Given the description of an element on the screen output the (x, y) to click on. 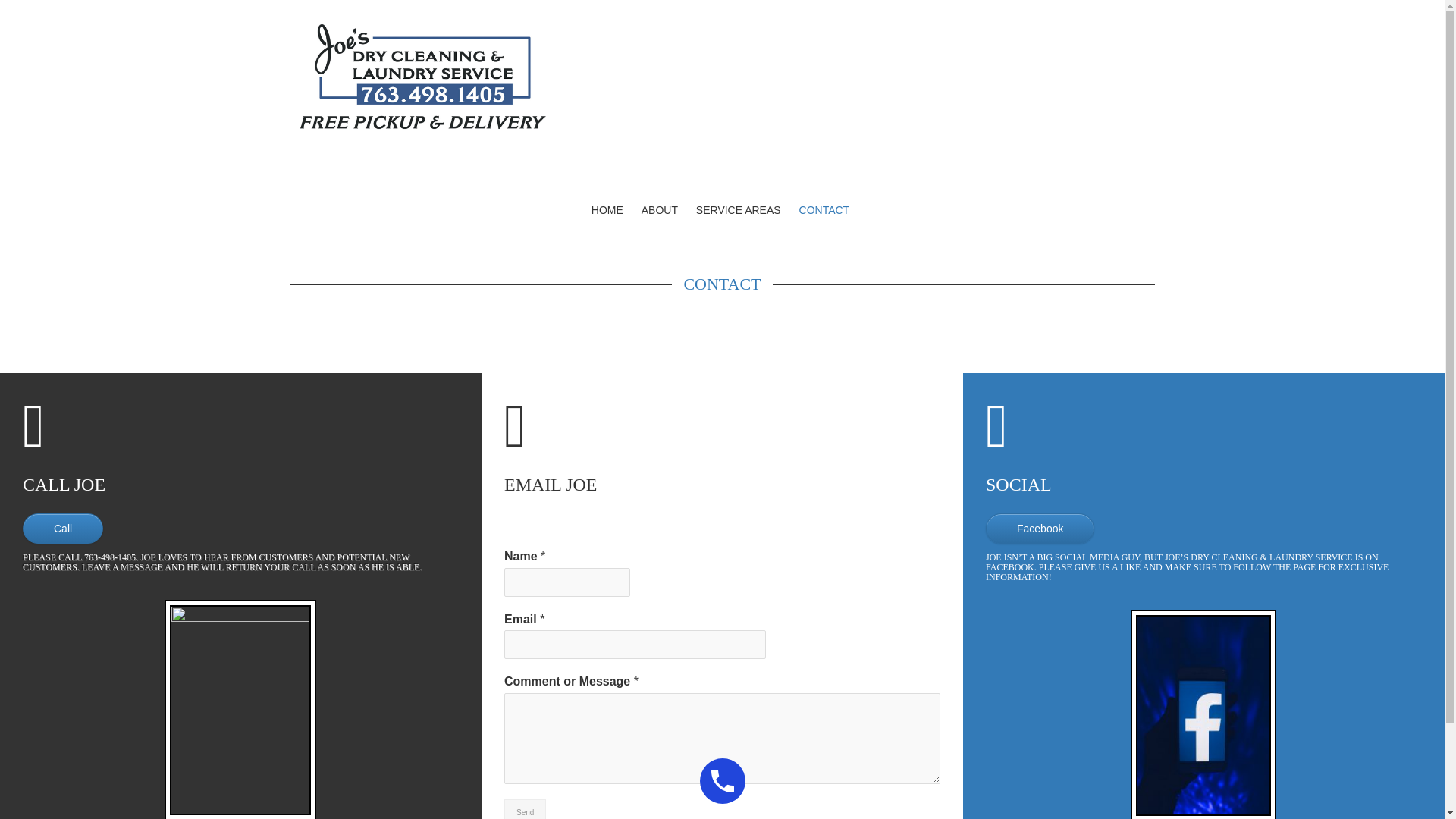
SERVICE AREAS (738, 209)
Facebook (1039, 528)
763-498-1405 (109, 557)
HOME (607, 209)
CONTACT (721, 283)
CONTACT (823, 209)
Send (524, 809)
Call (63, 528)
ABOUT (659, 209)
